Given the description of an element on the screen output the (x, y) to click on. 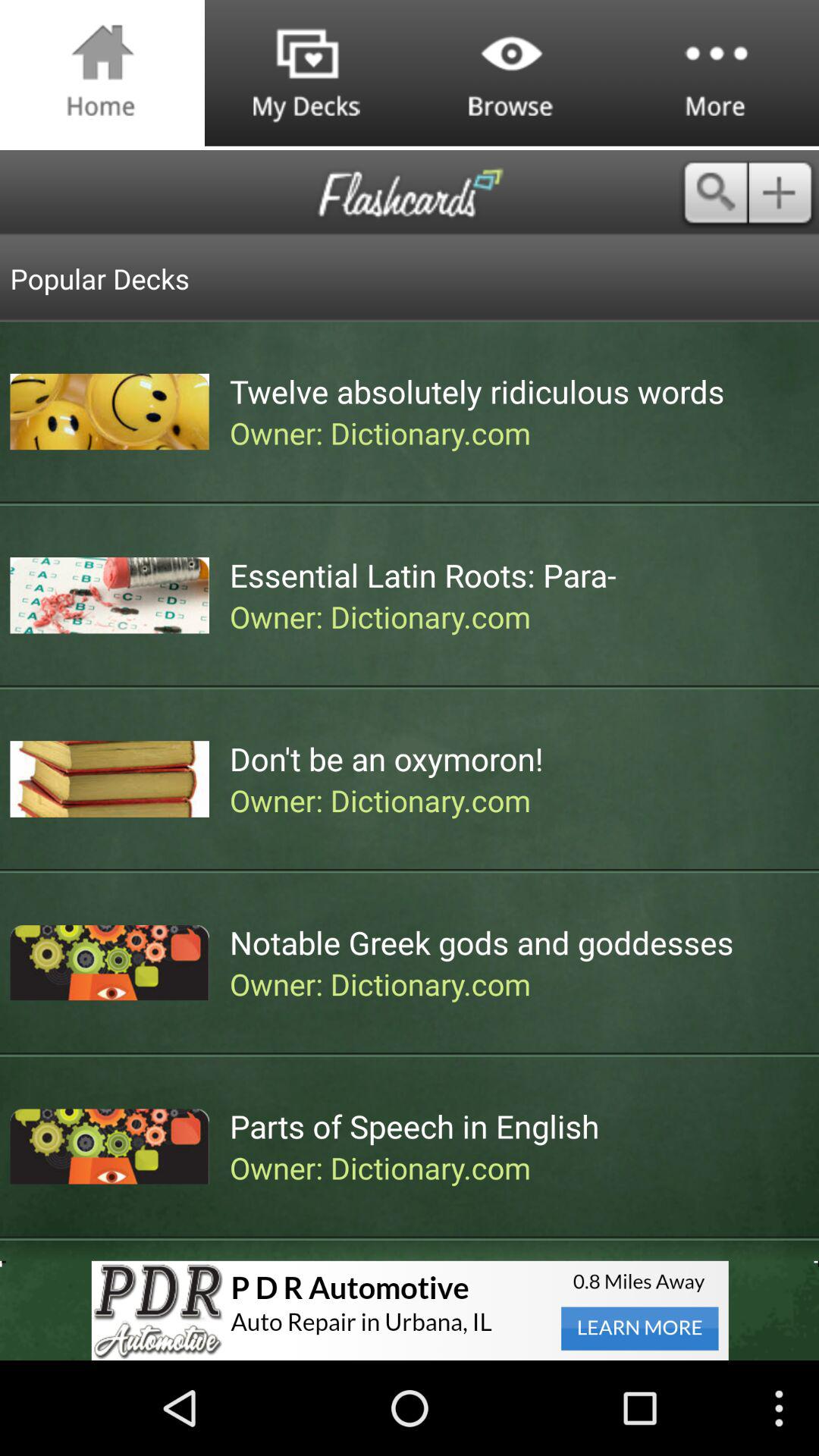
search (714, 192)
